Given the description of an element on the screen output the (x, y) to click on. 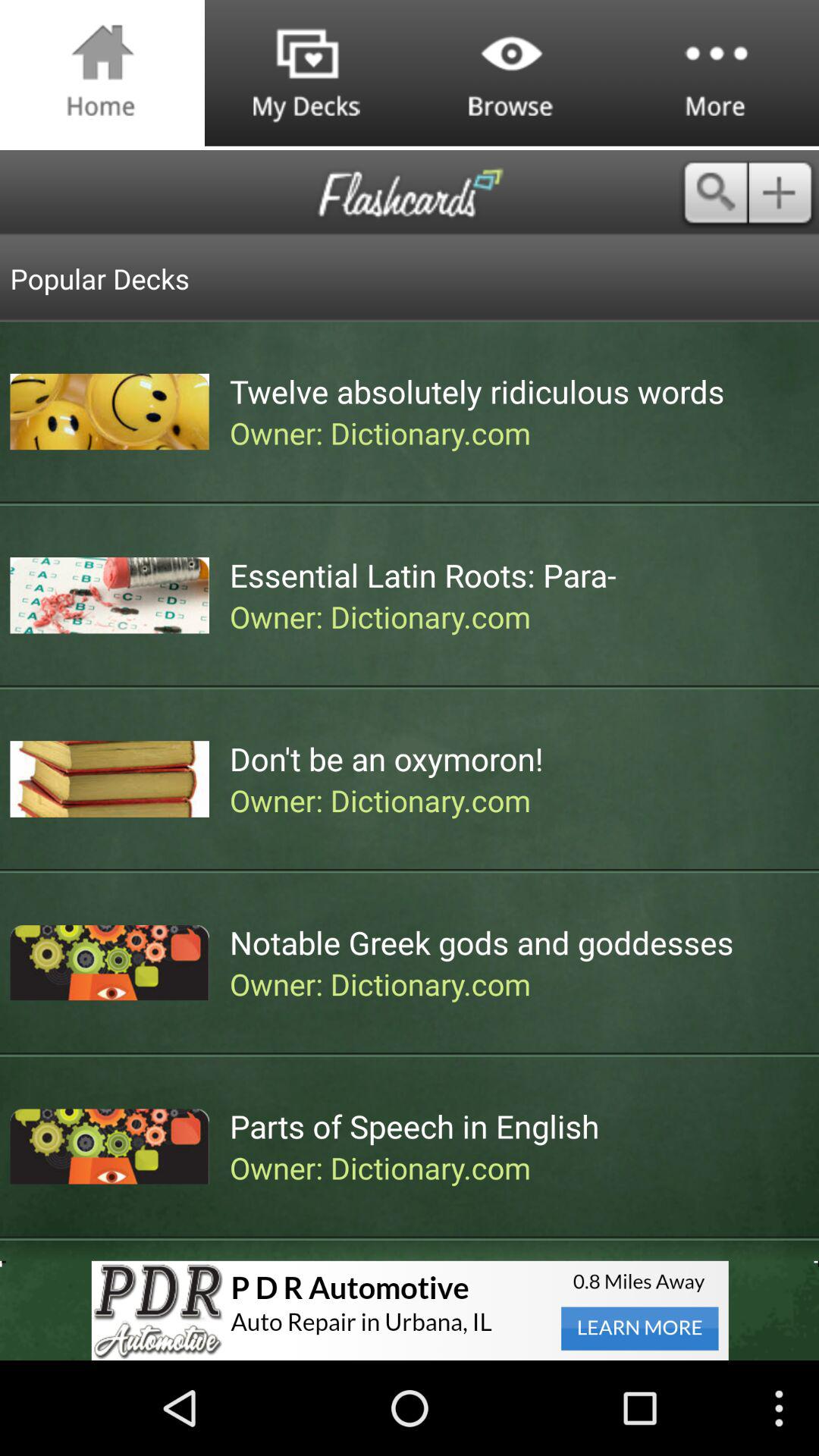
search (714, 192)
